Given the description of an element on the screen output the (x, y) to click on. 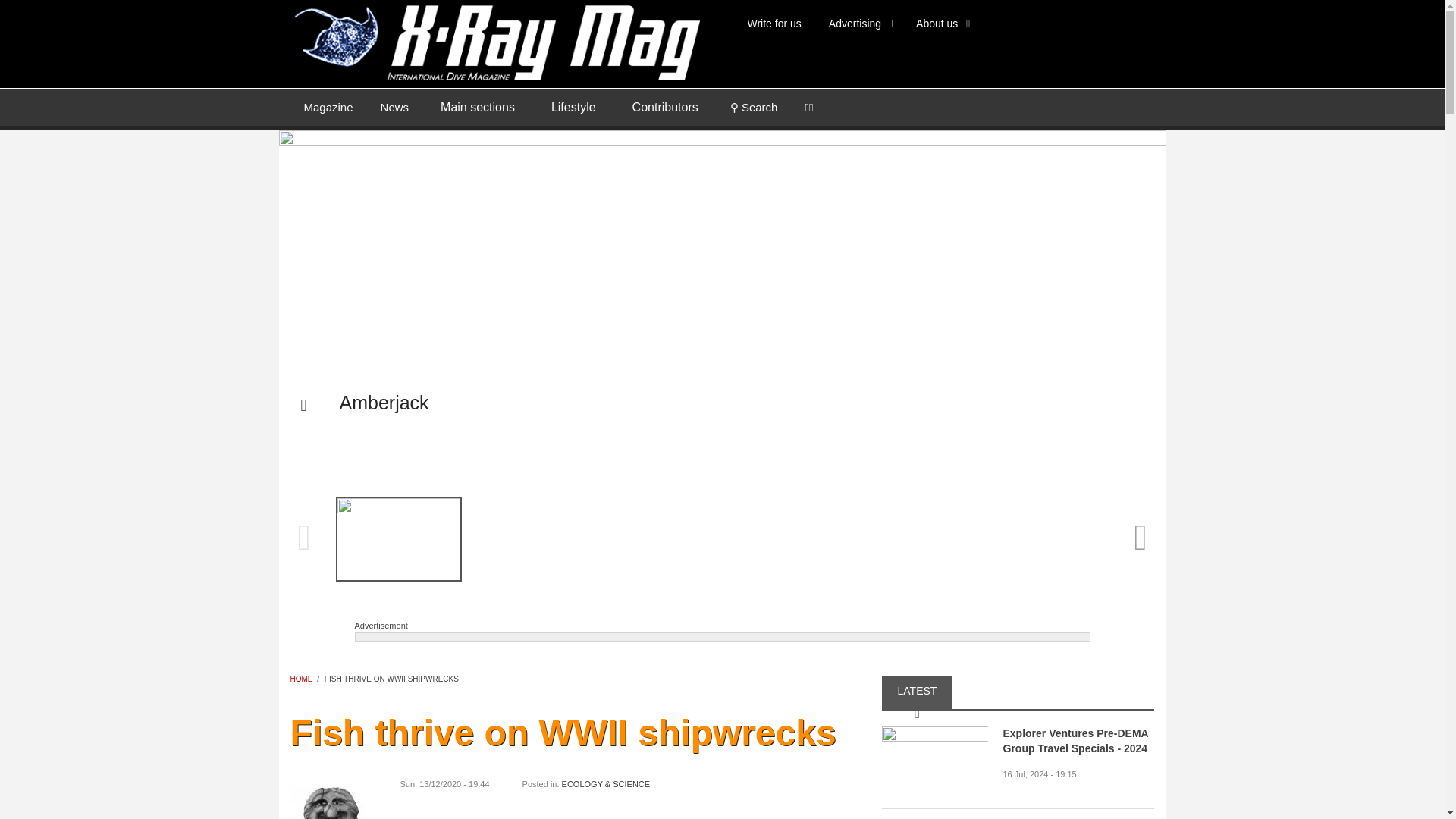
About us (940, 23)
Main sections (477, 107)
Back issues (327, 106)
Home (493, 41)
Advertising (858, 23)
News (394, 106)
Advertising and promotions (858, 23)
Write for us (774, 23)
Magazine (327, 106)
